Given the description of an element on the screen output the (x, y) to click on. 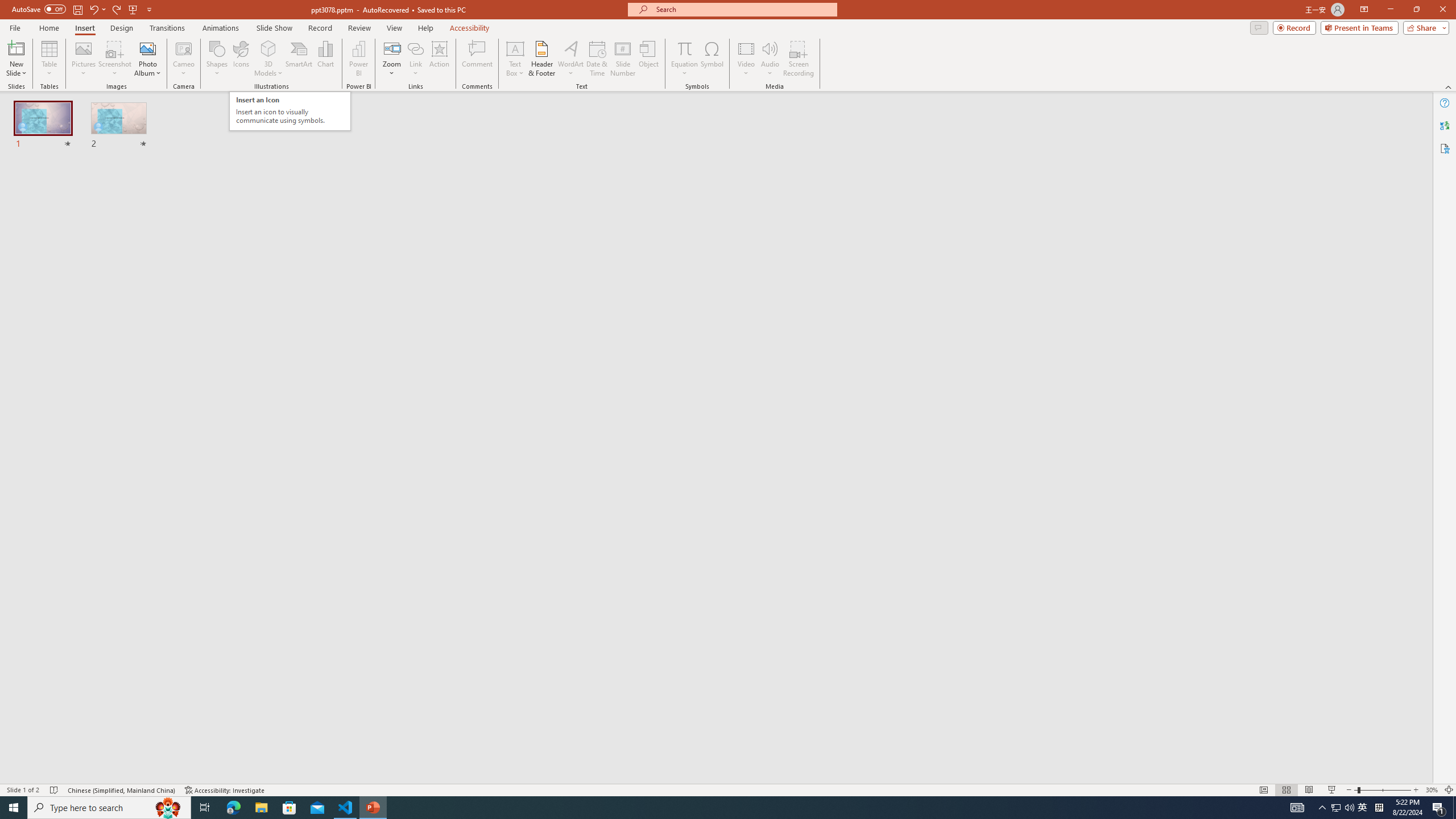
3D Models (268, 58)
Equation (683, 58)
Slide Number (622, 58)
New Photo Album... (147, 48)
Audio (769, 58)
Icons (240, 58)
